Given the description of an element on the screen output the (x, y) to click on. 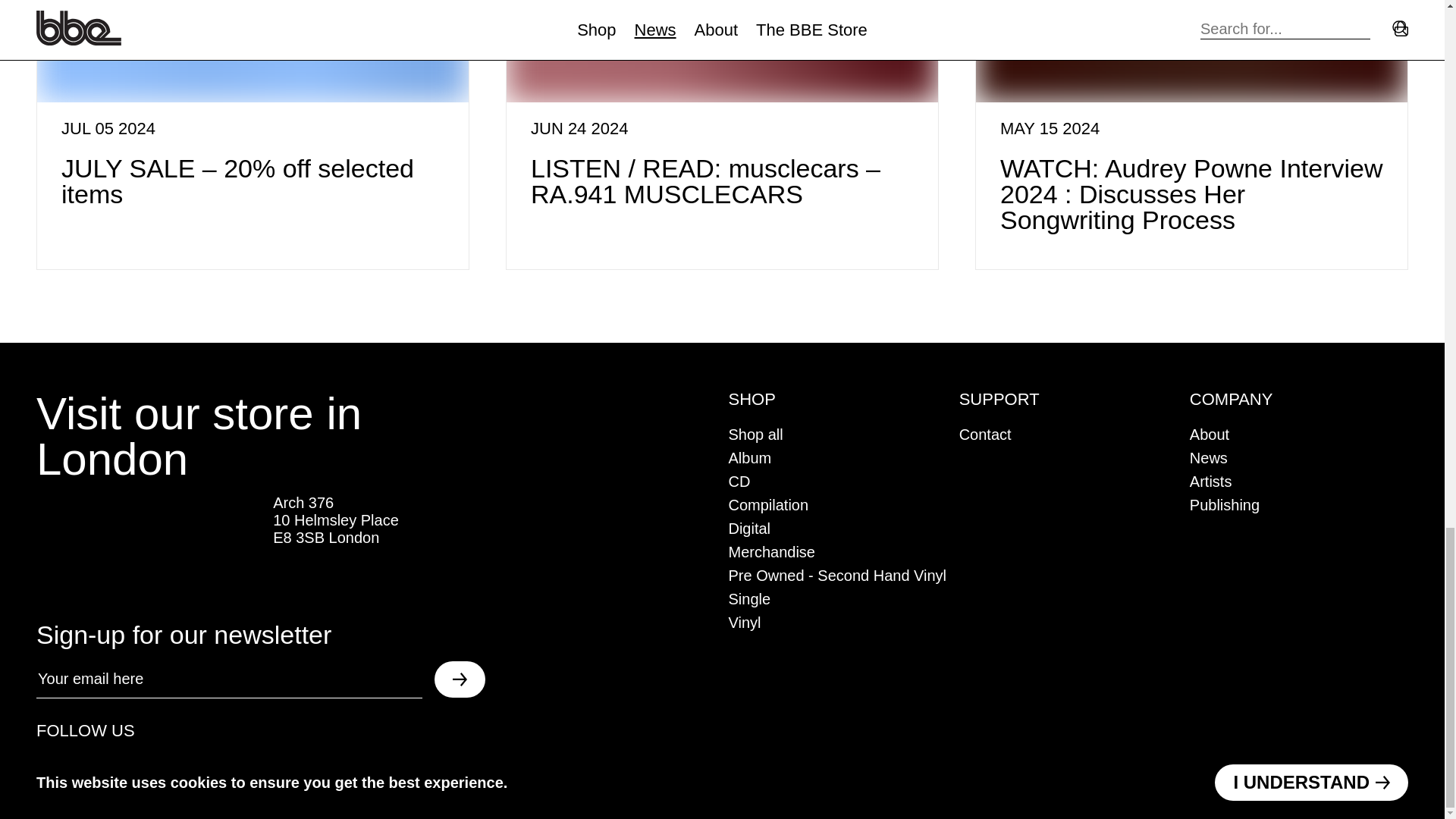
Contact (985, 434)
Screenshot 2024-05-15 at 12.03.05 (1191, 51)
Digital (749, 528)
Album (749, 457)
Pre Owned - Second Hand Vinyl (837, 575)
Privacy Policy (765, 762)
JULY SALE squage (252, 51)
Shop all (755, 434)
Merchandise (771, 551)
News (1208, 457)
Single (749, 598)
About (1208, 434)
CD (738, 481)
Vinyl (744, 622)
